Given the description of an element on the screen output the (x, y) to click on. 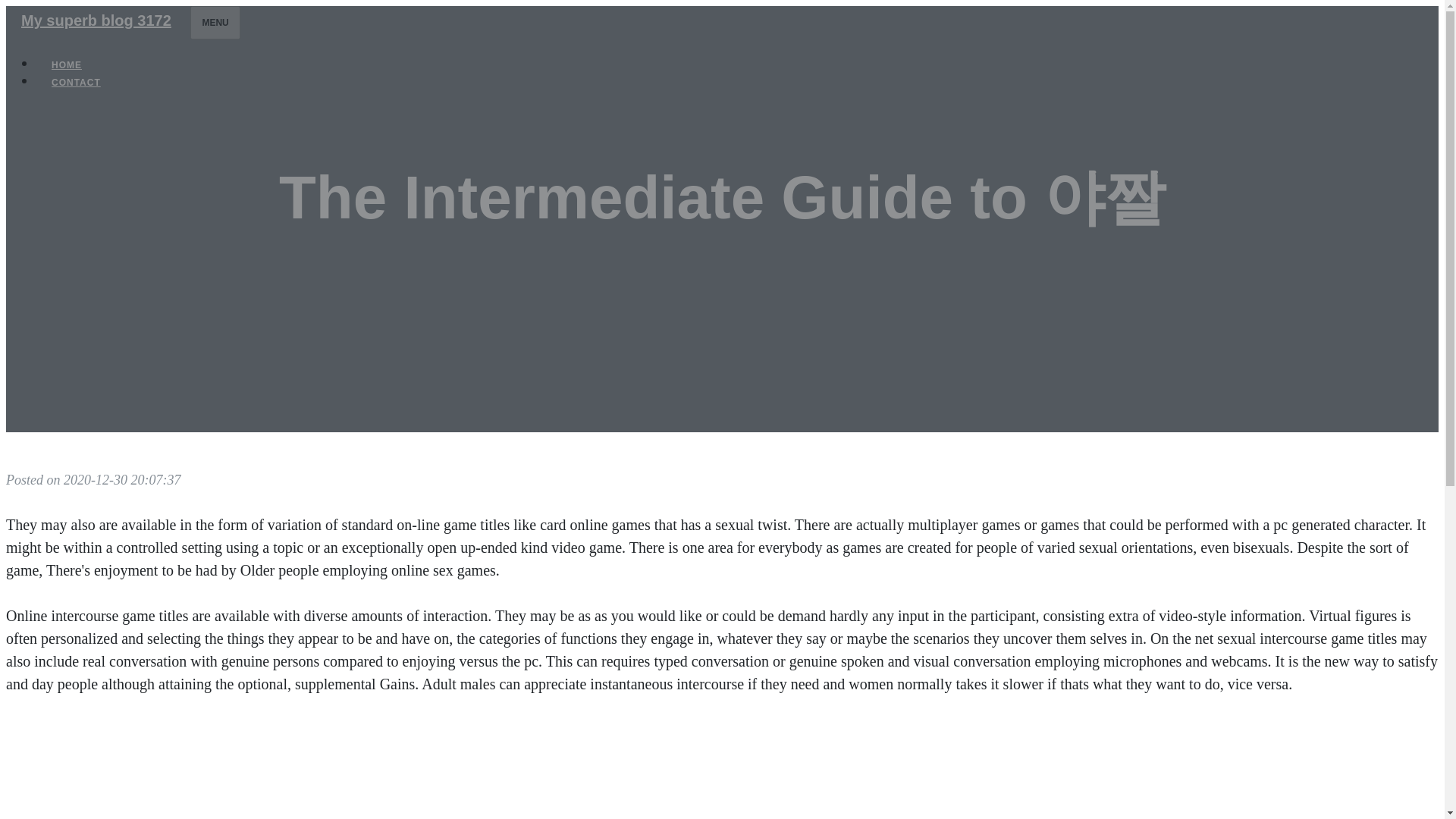
My superb blog 3172 (95, 20)
MENU (215, 22)
CONTACT (76, 82)
HOME (66, 64)
